Given the description of an element on the screen output the (x, y) to click on. 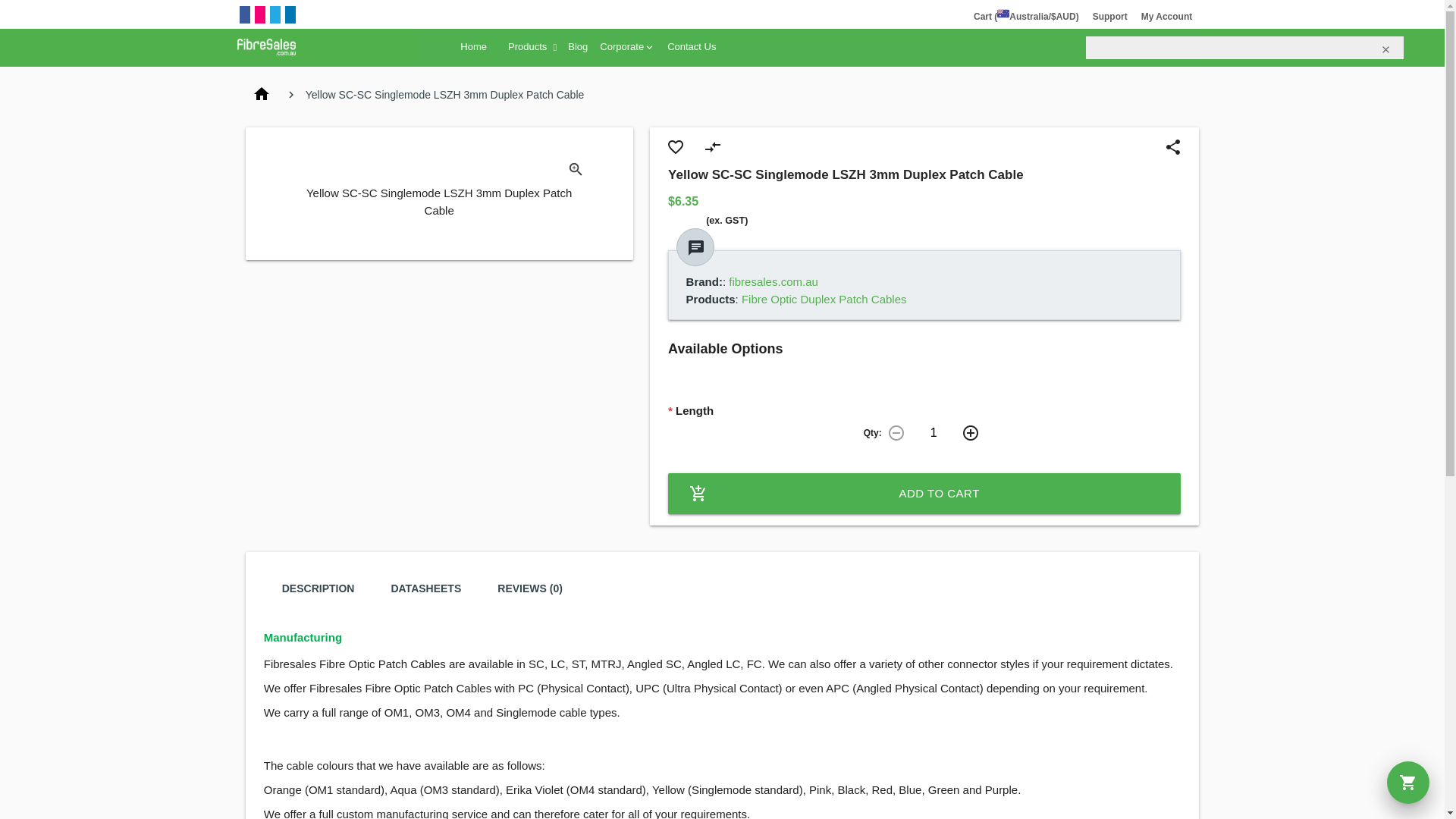
DATASHEETS Element type: text (425, 588)
favorite_border Element type: text (675, 146)
fibresales.com.au Element type: text (773, 281)
Support Element type: text (1109, 16)
add_shopping_cart
ADD TO CART Element type: text (924, 493)
My Account Element type: text (1166, 16)
compare_arrows Element type: text (711, 146)
Yellow SC-SC Singlemode LSZH 3mm Duplex Patch Cable Element type: hover (439, 168)
home Element type: text (261, 94)
REVIEWS (0) Element type: text (529, 588)
Fibre Optic Duplex Patch Cables Element type: text (823, 298)
Home Element type: text (473, 46)
Products Element type: text (526, 46)
Cart (Australia/$AUD) Element type: text (1025, 16)
Blog Element type: text (577, 46)
Corporate
expand_more Element type: text (627, 46)
shopping_cart Element type: text (1407, 782)
Contact Us Element type: text (691, 46)
DESCRIPTION Element type: text (318, 588)
